Given the description of an element on the screen output the (x, y) to click on. 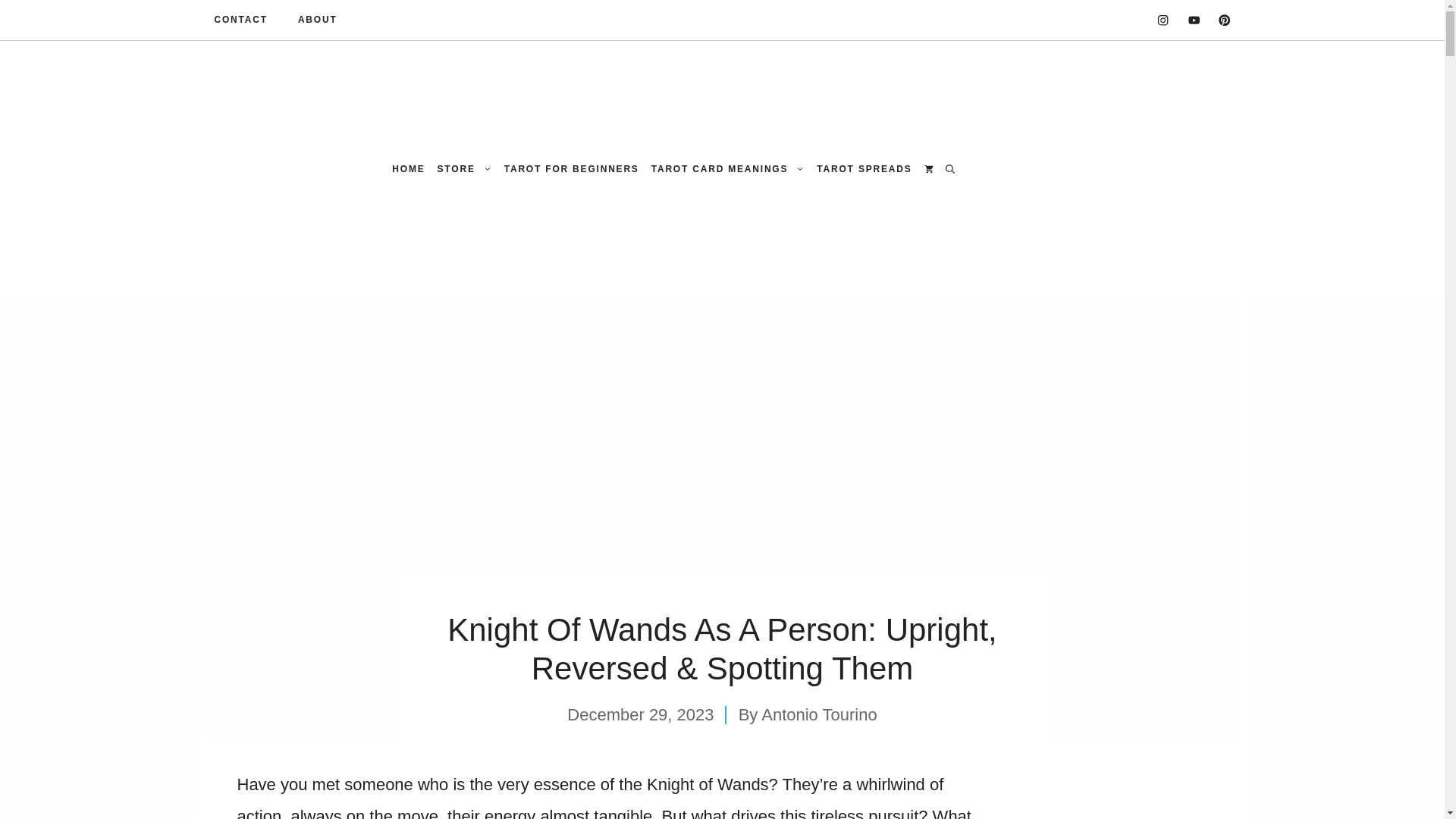
HOME (407, 169)
Antonio Tourino (819, 714)
ABOUT (317, 19)
TAROT CARD MEANINGS (727, 169)
TAROT FOR BEGINNERS (571, 169)
CONTACT (240, 19)
STORE (463, 169)
TAROT SPREADS (863, 169)
